Given the description of an element on the screen output the (x, y) to click on. 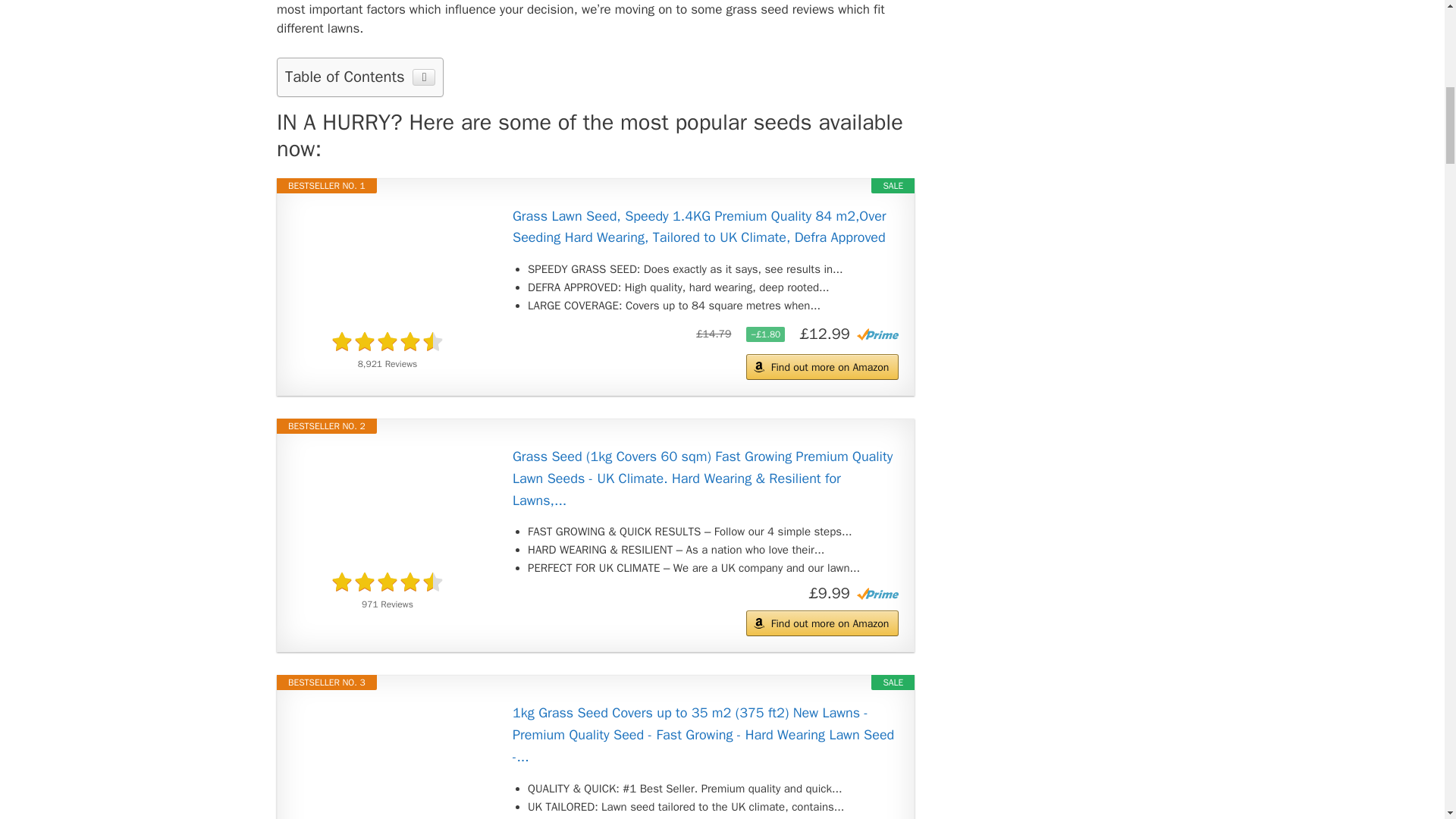
Find out more on Amazon (821, 623)
Find out more on Amazon (821, 366)
